Given the description of an element on the screen output the (x, y) to click on. 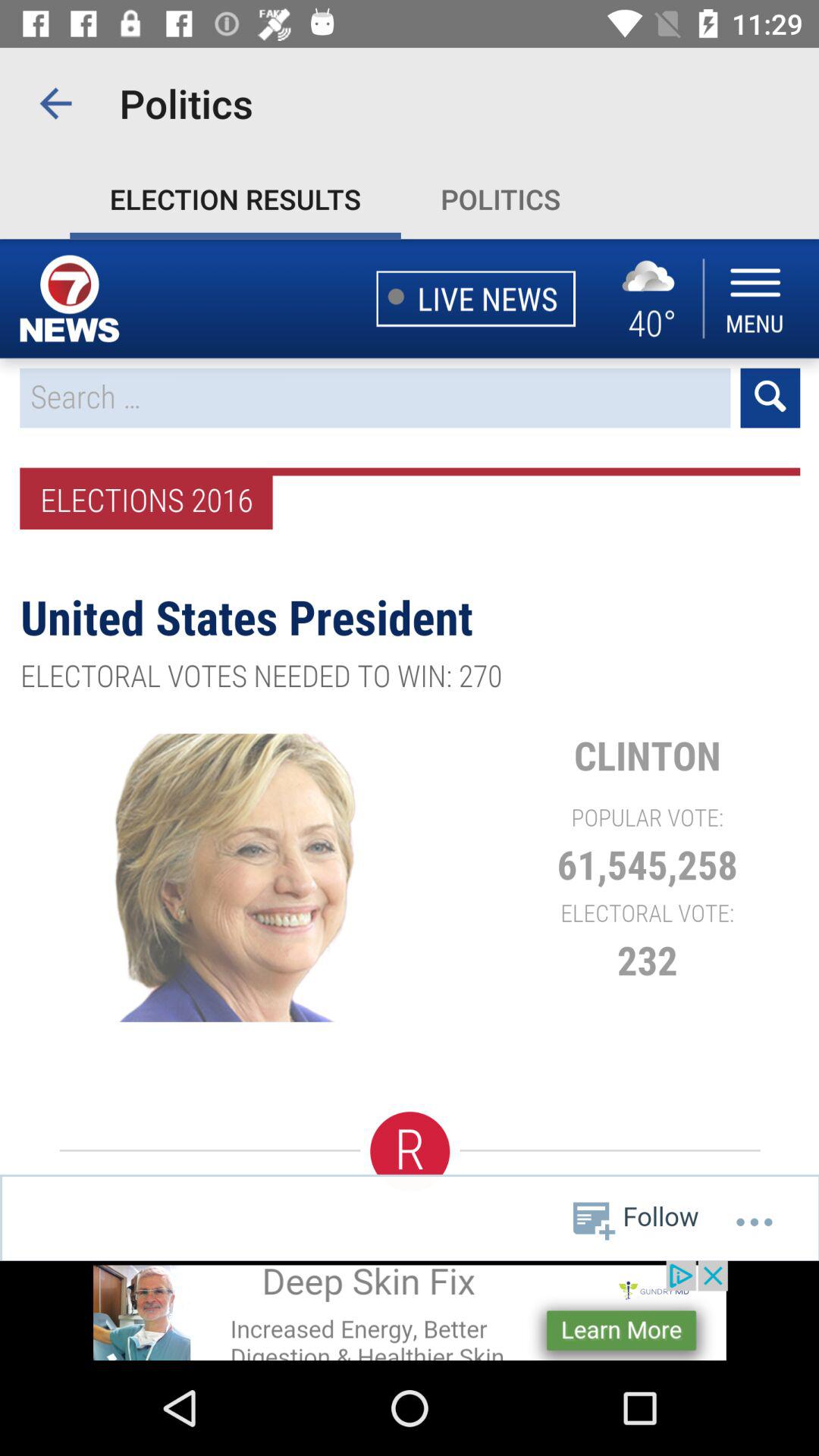
advertisement (409, 1310)
